Given the description of an element on the screen output the (x, y) to click on. 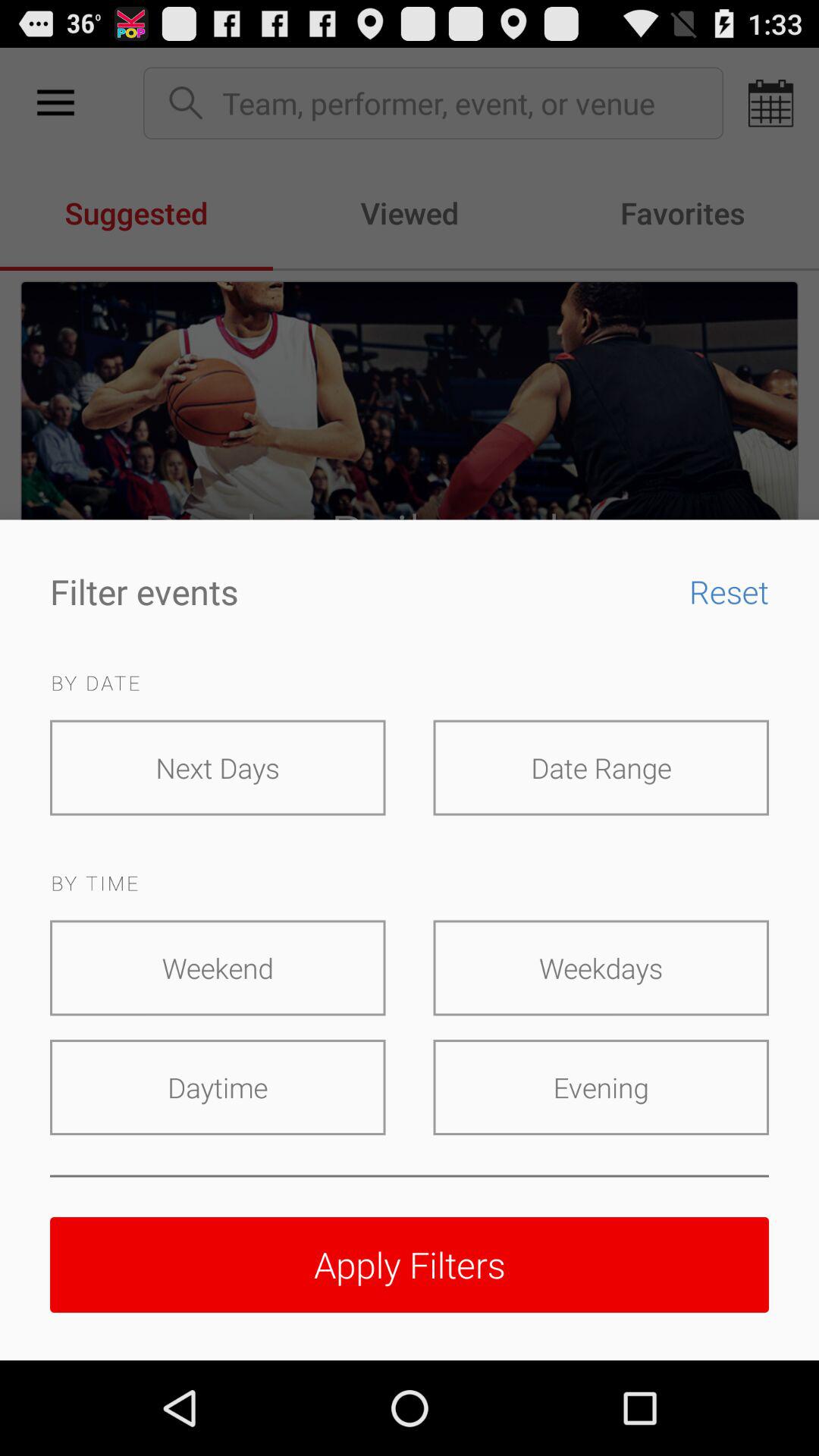
swipe until the next days icon (217, 767)
